Given the description of an element on the screen output the (x, y) to click on. 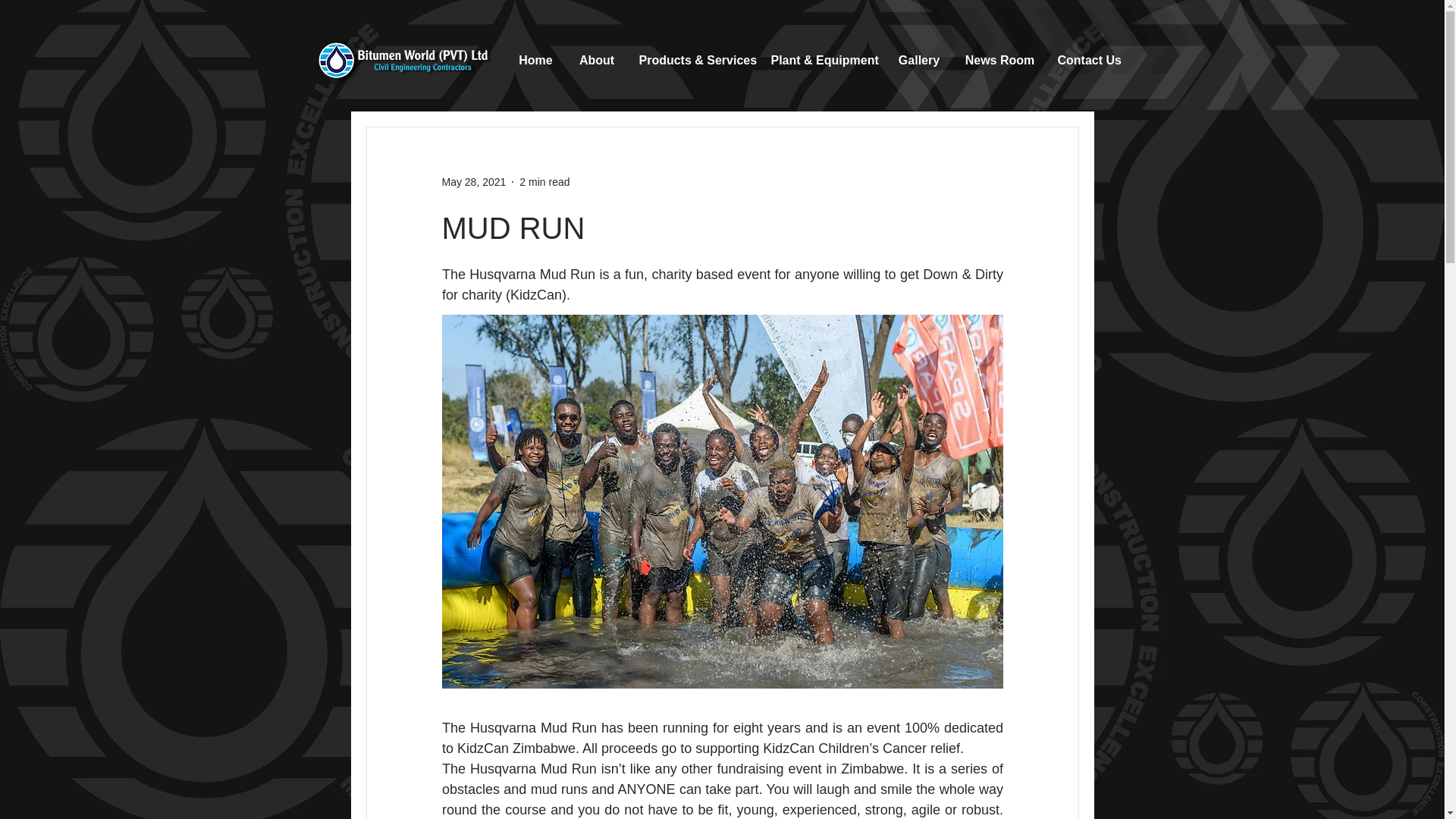
May 28, 2021 (473, 182)
Contact Us (1089, 60)
About (596, 60)
Gallery (918, 60)
Home (535, 60)
News Room (999, 60)
2 min read (544, 182)
